Given the description of an element on the screen output the (x, y) to click on. 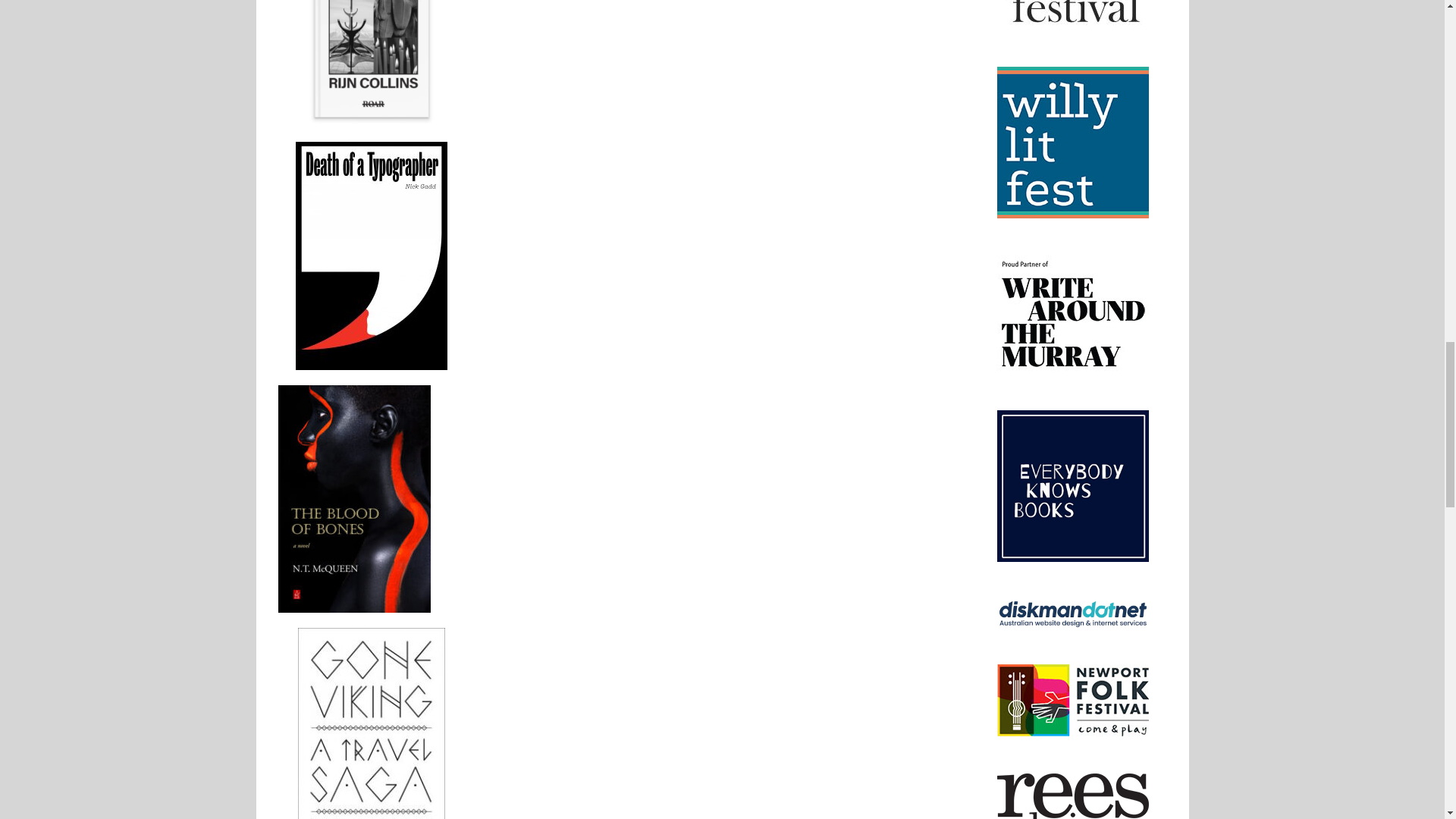
Gone Viking book (371, 723)
